Given the description of an element on the screen output the (x, y) to click on. 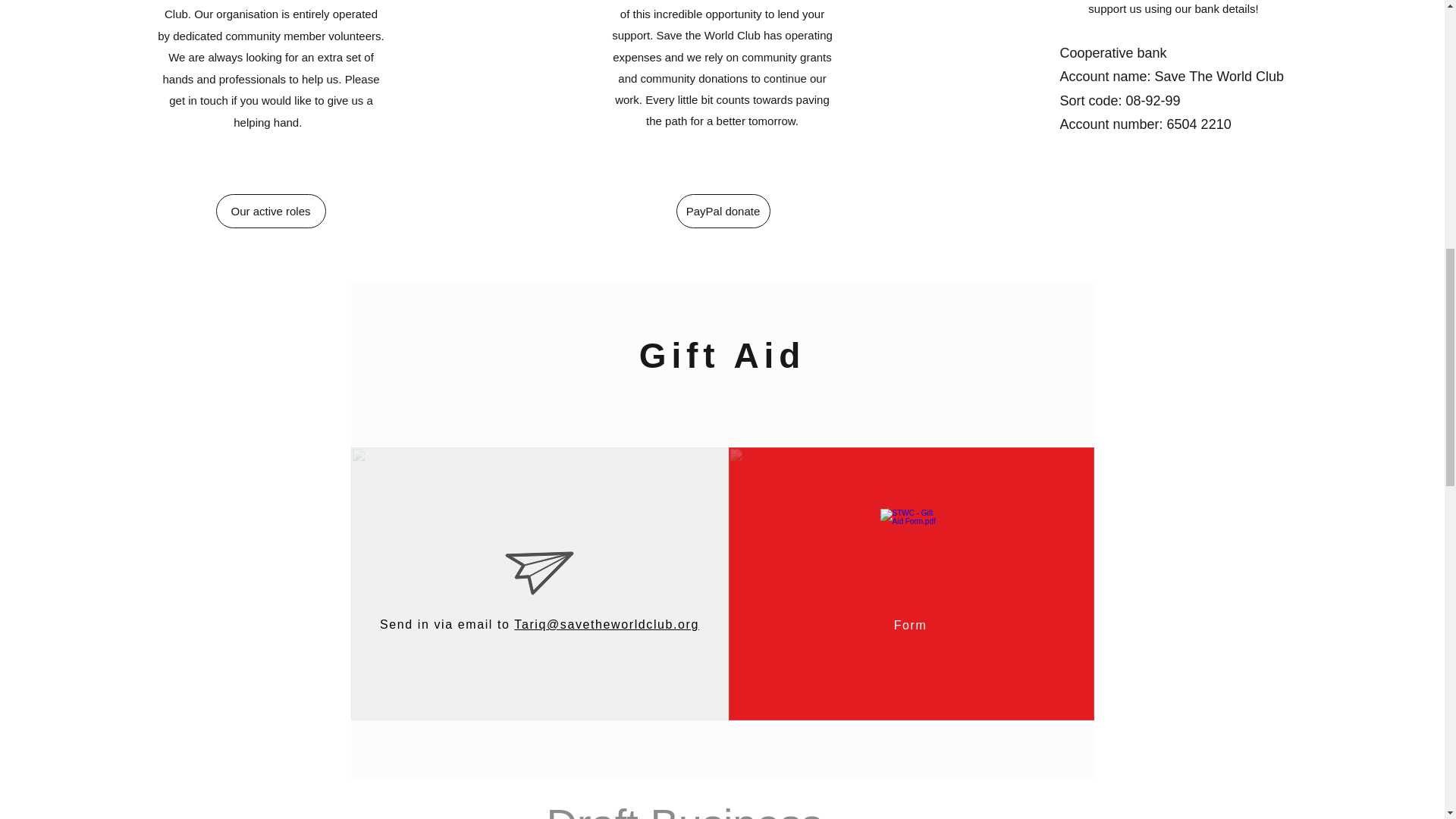
PayPal donate (723, 211)
Our active roles (269, 211)
